Given the description of an element on the screen output the (x, y) to click on. 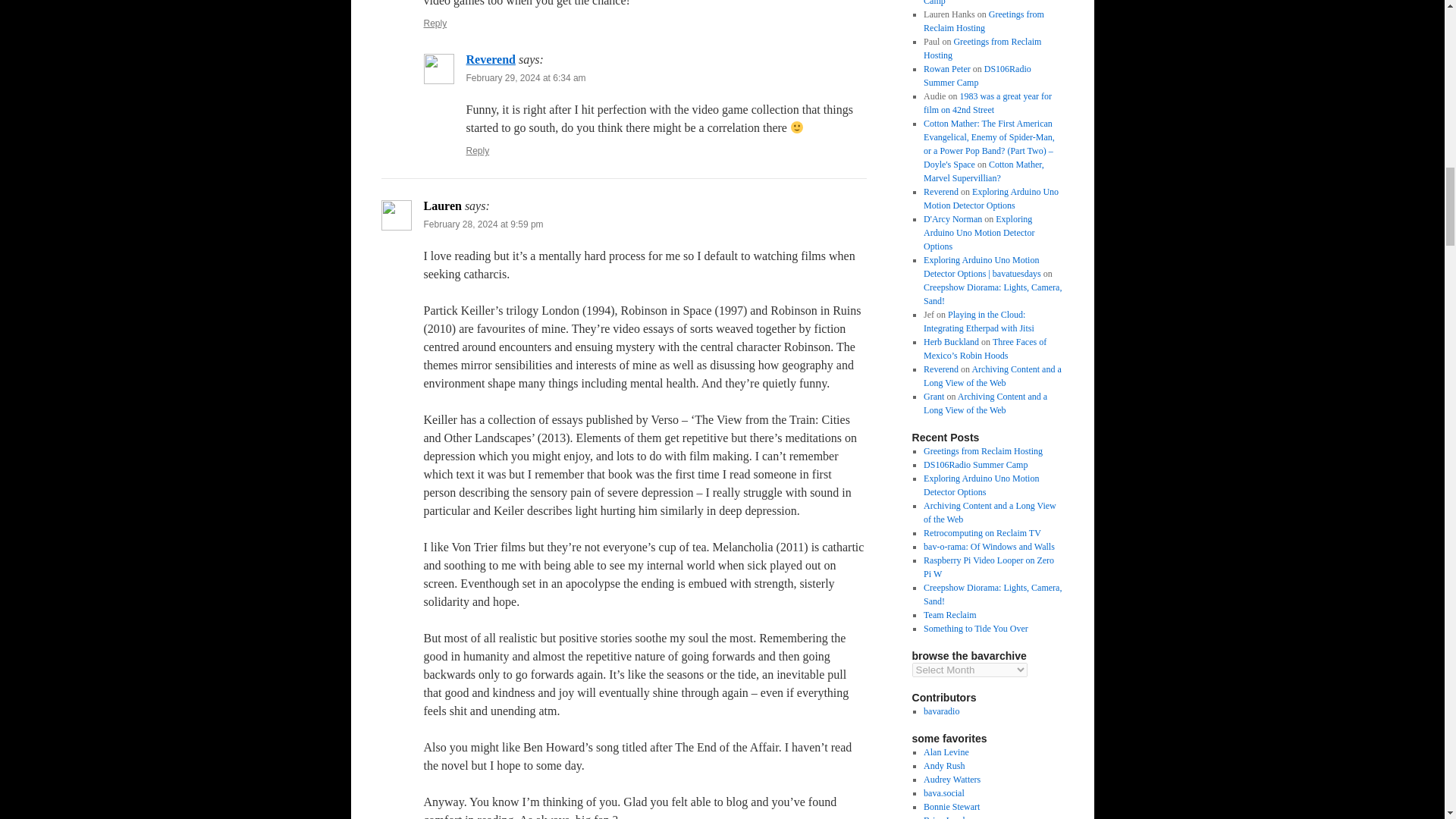
bava on the radio (941, 710)
Reply (434, 23)
Reverend (490, 59)
